Given the description of an element on the screen output the (x, y) to click on. 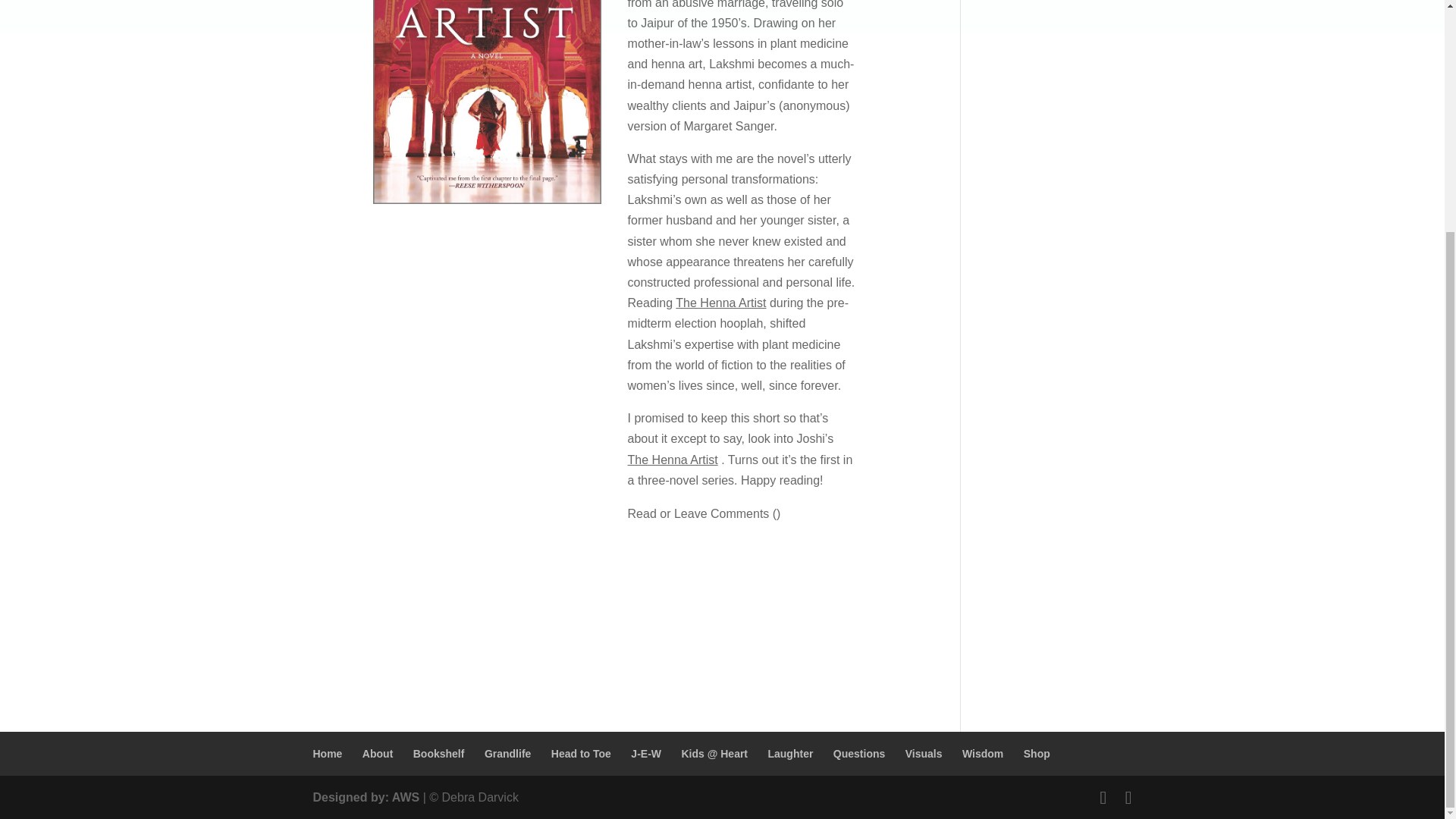
Bookshelf (438, 753)
Home (327, 753)
91SQeTgvx3L (486, 101)
Head to Toe (581, 753)
J-E-W (645, 753)
Grandlife (507, 753)
About (377, 753)
